Given the description of an element on the screen output the (x, y) to click on. 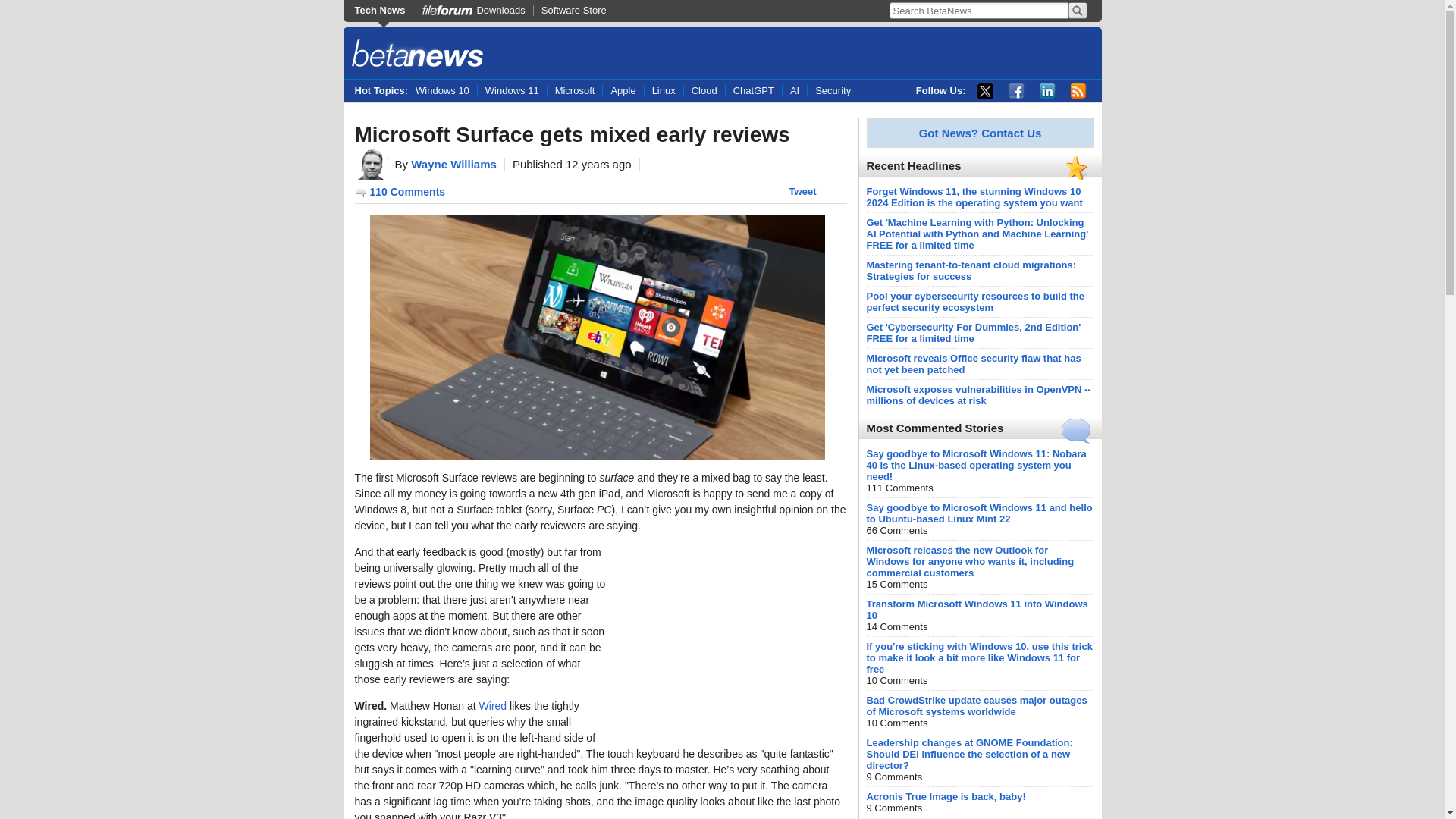
AI (793, 90)
Tweet (802, 191)
Advertisement (731, 638)
Got News? Contact Us (980, 132)
Microsoft (574, 90)
BetaNews (417, 54)
ChatGPT (753, 90)
Search (1076, 10)
